Given the description of an element on the screen output the (x, y) to click on. 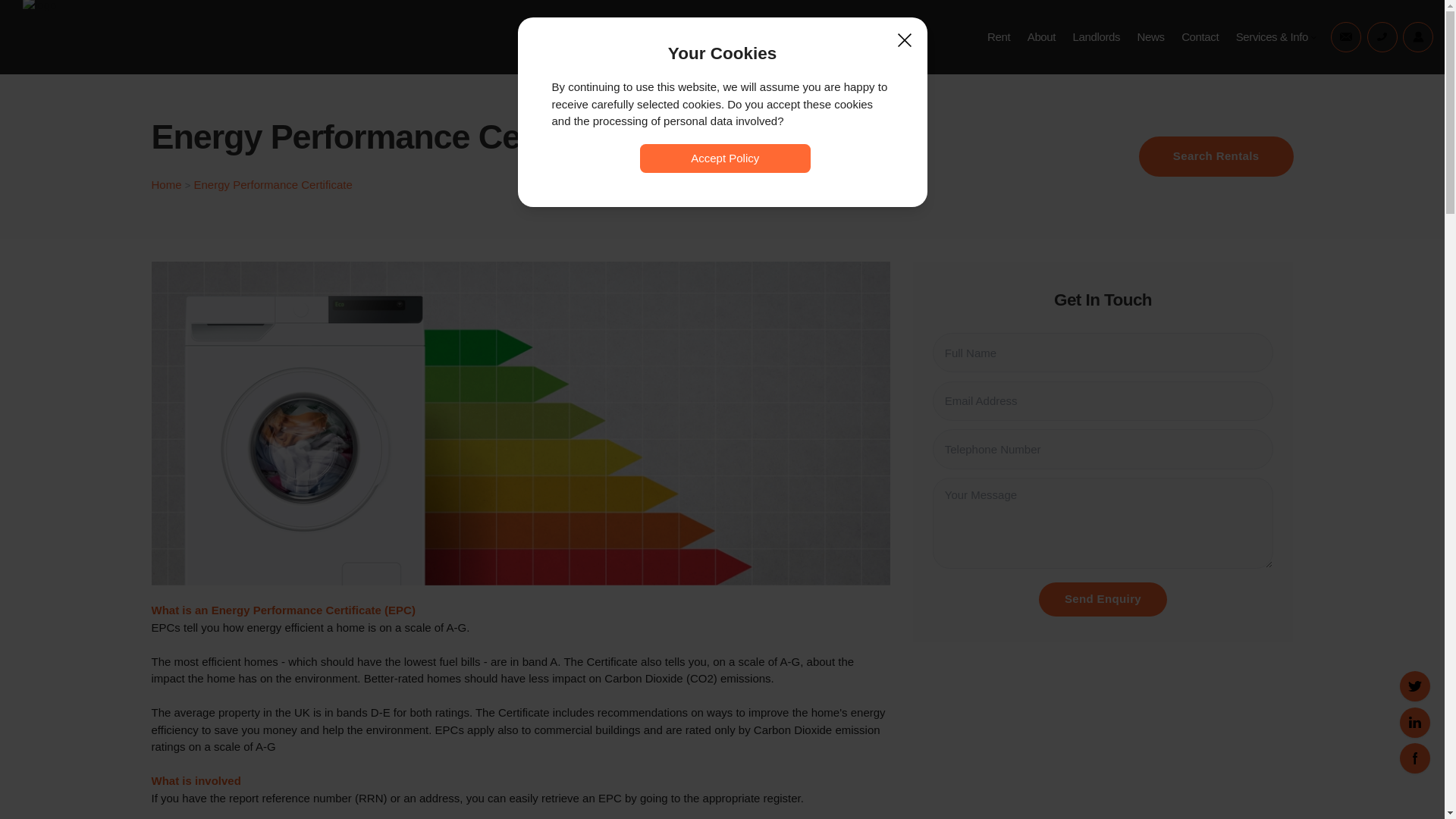
Landlords (1096, 36)
About (1041, 36)
Home (166, 183)
Rent (998, 36)
News (1150, 36)
Contact (1200, 36)
